Given the description of an element on the screen output the (x, y) to click on. 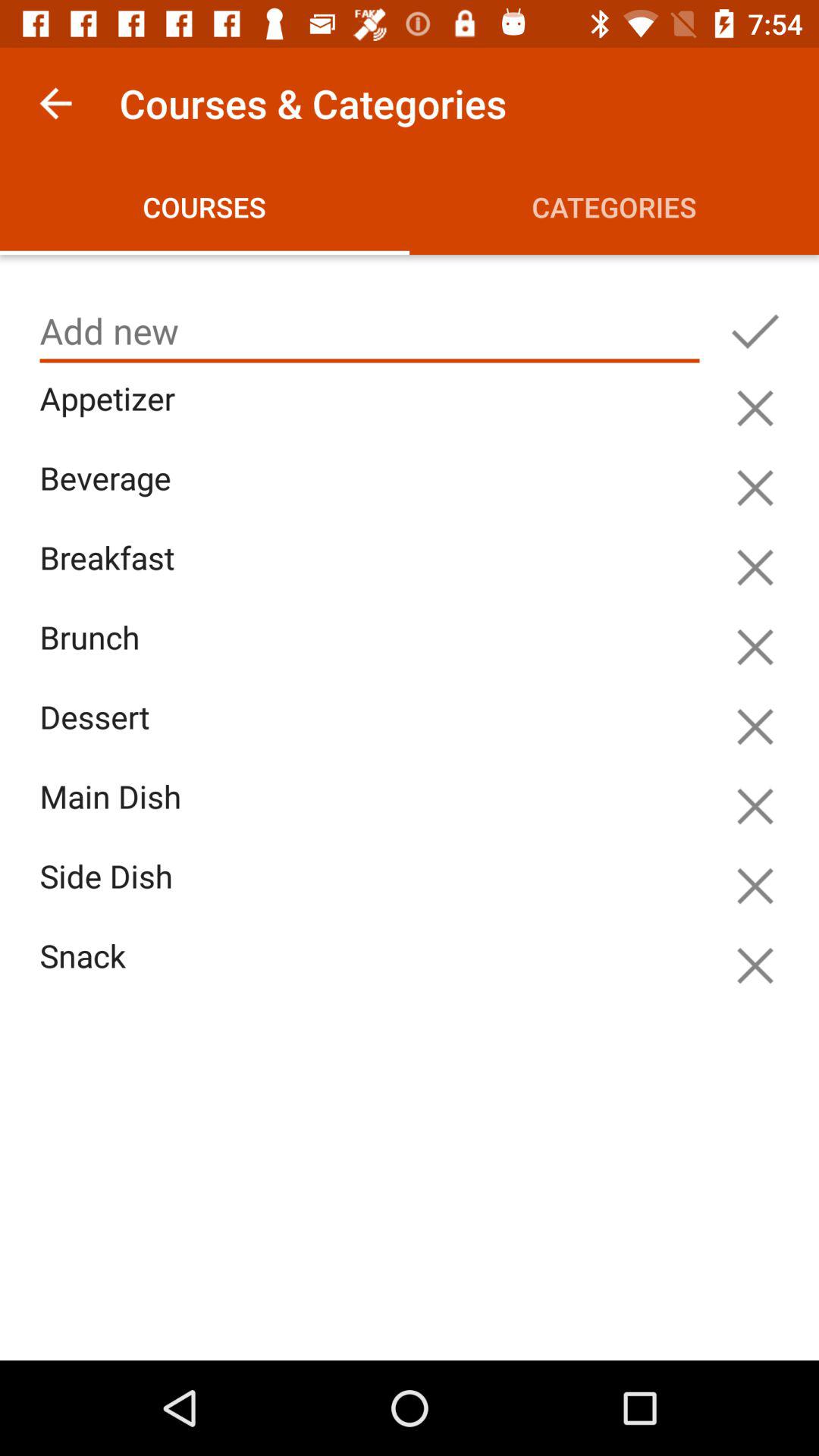
scroll to the appetizer (373, 416)
